Given the description of an element on the screen output the (x, y) to click on. 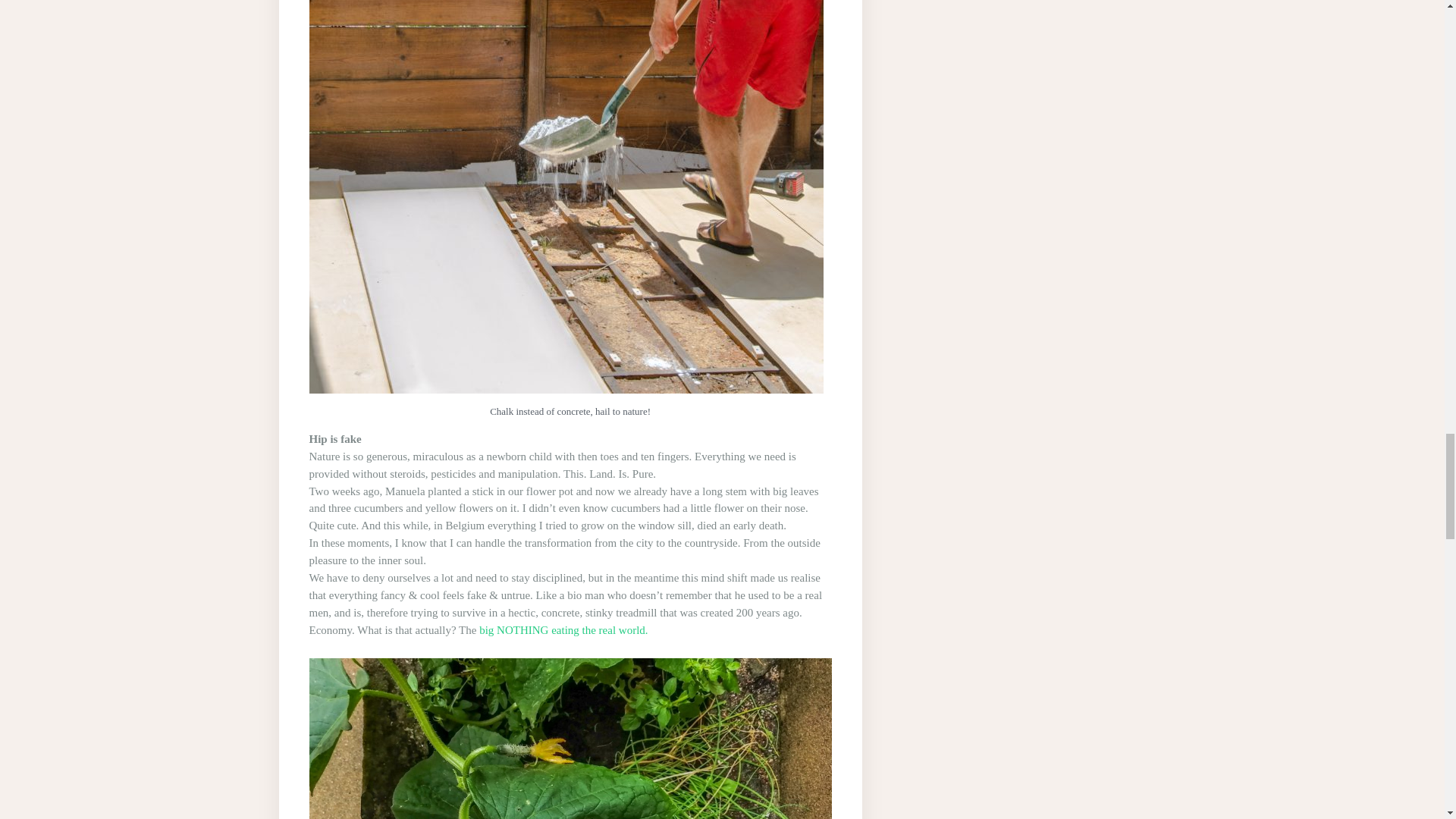
big NOTHING eating the real world. (561, 630)
